Given the description of an element on the screen output the (x, y) to click on. 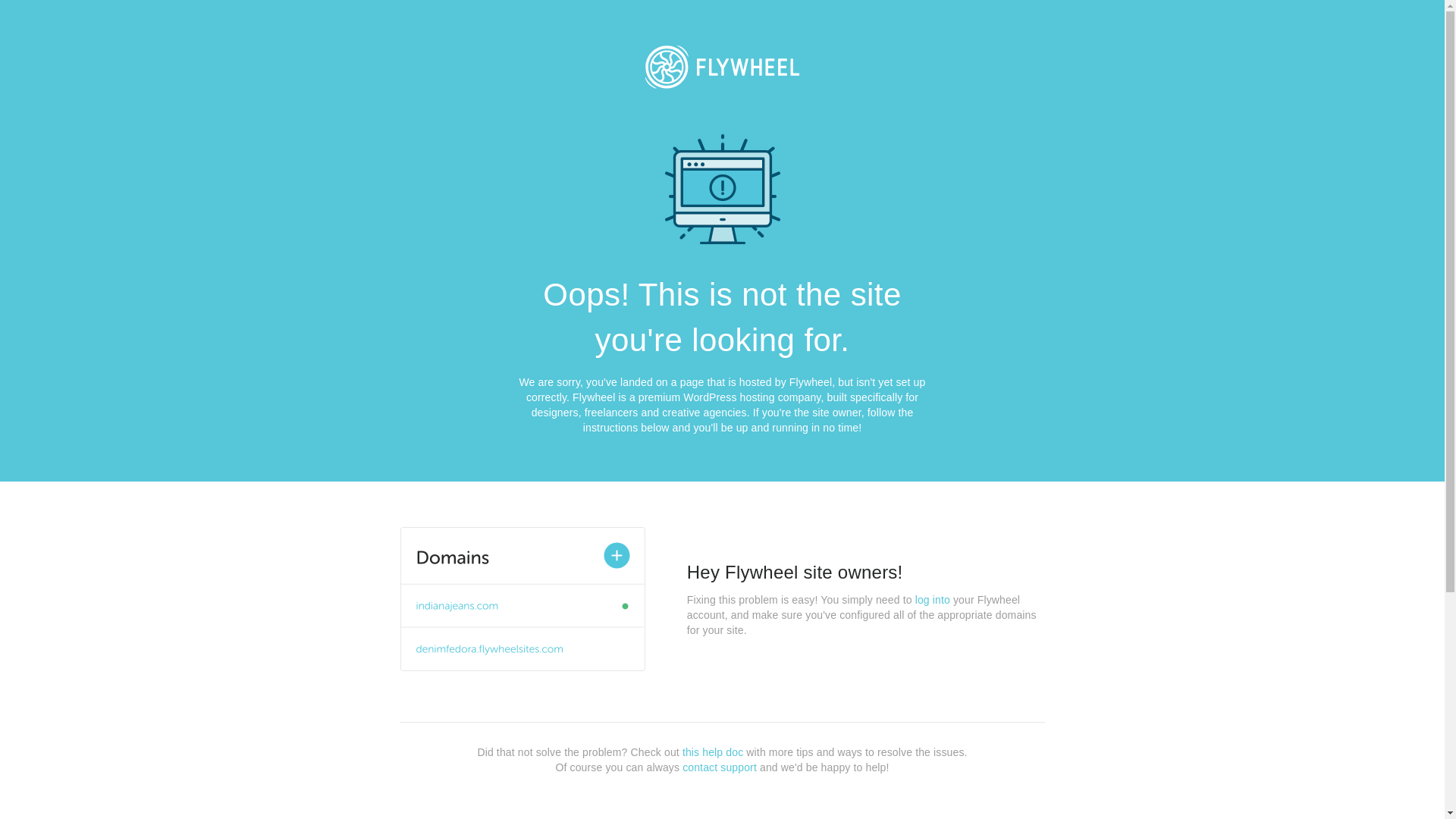
log into (932, 599)
contact support (719, 767)
this help doc (712, 752)
